Given the description of an element on the screen output the (x, y) to click on. 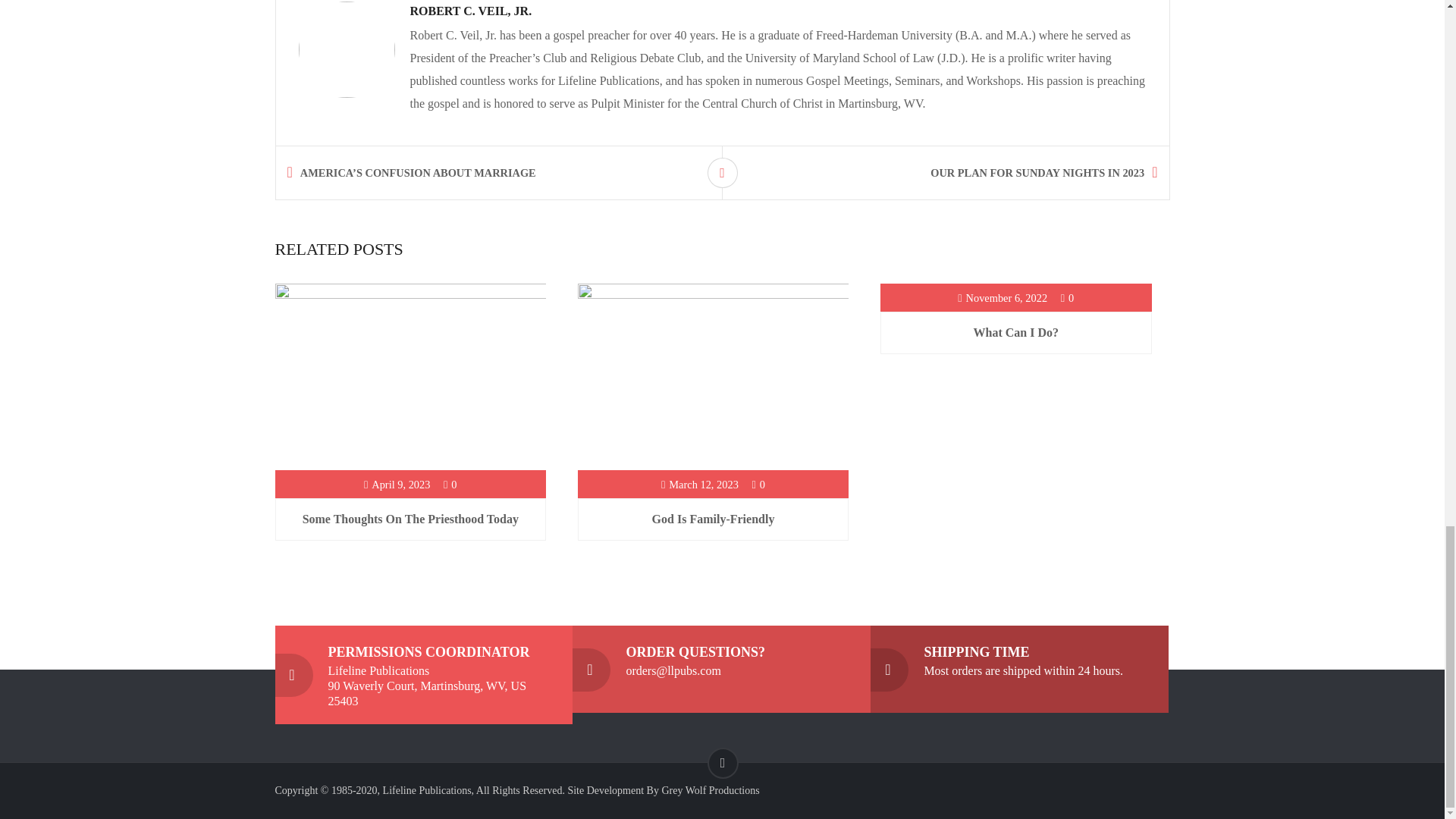
ROBERT C. VEIL, JR. (470, 10)
View All (721, 173)
OUR PLAN FOR SUNDAY NIGHTS IN 2023 (955, 172)
Some Thoughts On The Priesthood Today (410, 518)
What Can I Do? (1016, 332)
God Is Family-Friendly (713, 518)
